Given the description of an element on the screen output the (x, y) to click on. 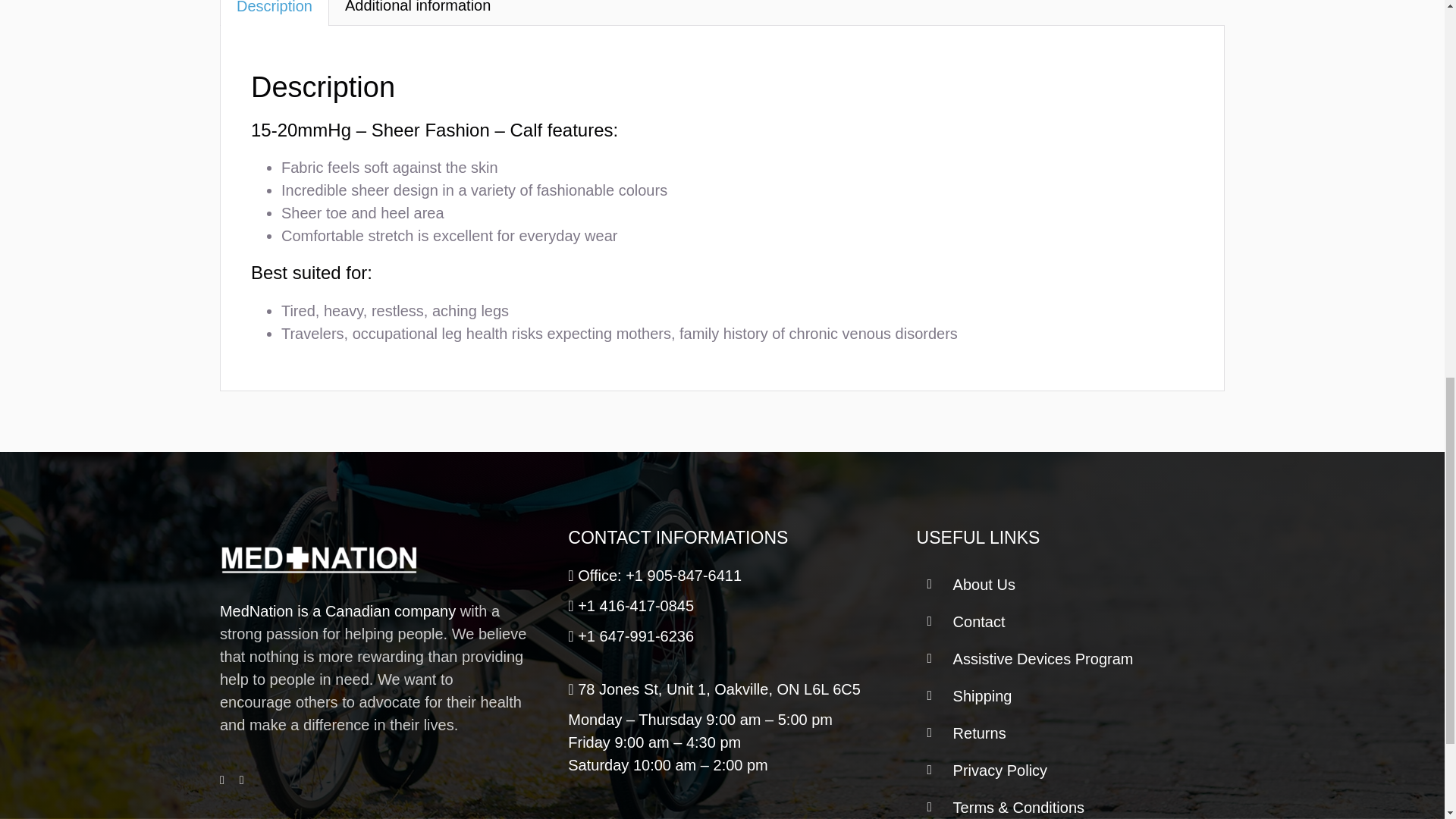
white-logo (318, 557)
